Given the description of an element on the screen output the (x, y) to click on. 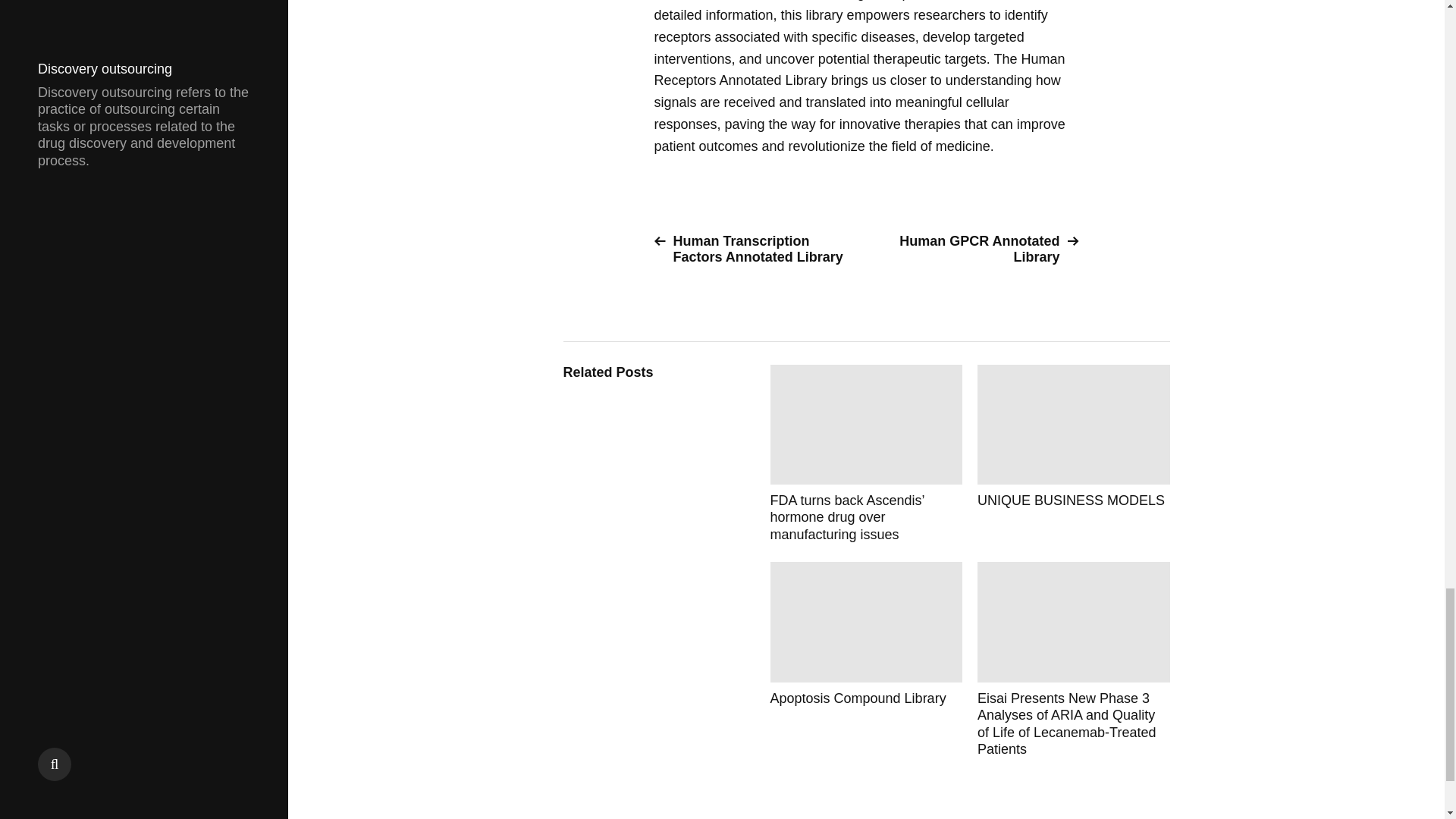
Human Transcription Factors Annotated Library (753, 249)
UNIQUE BUSINESS MODELS (1073, 452)
Human GPCR Annotated Library (977, 249)
Apoptosis Compound Library (866, 659)
